Given the description of an element on the screen output the (x, y) to click on. 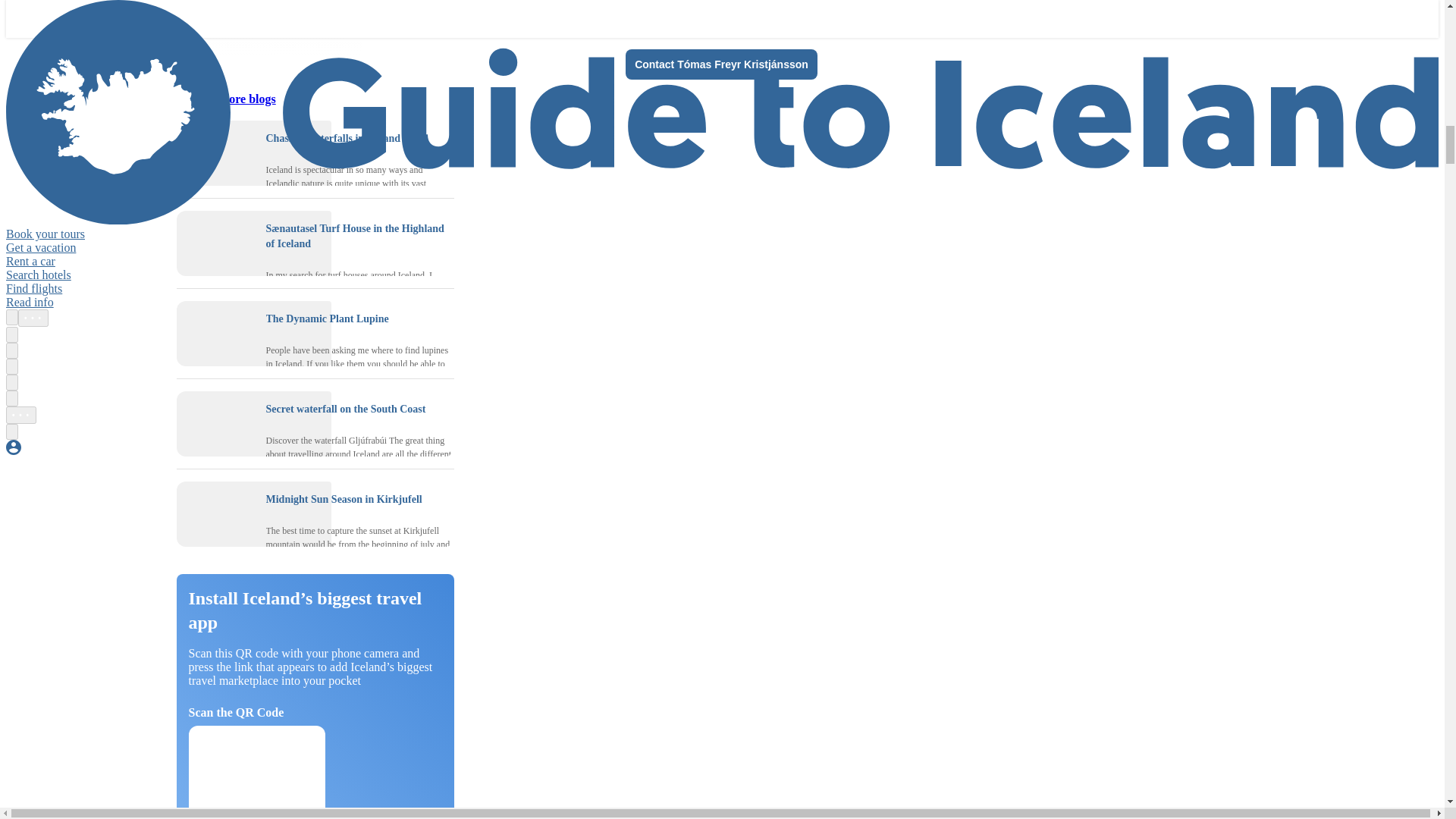
The Dynamic Plant Lupine (214, 333)
Secret waterfall on the South Coast (214, 423)
Chasing Waterfalls in Iceland (332, 138)
Midnight Sun Season in Kirkjufell (214, 514)
The Dynamic Plant Lupine (326, 318)
Chasing Waterfalls in Iceland (214, 152)
Top 10 Most Beautiful Waterfalls in Iceland (510, 13)
